Given the description of an element on the screen output the (x, y) to click on. 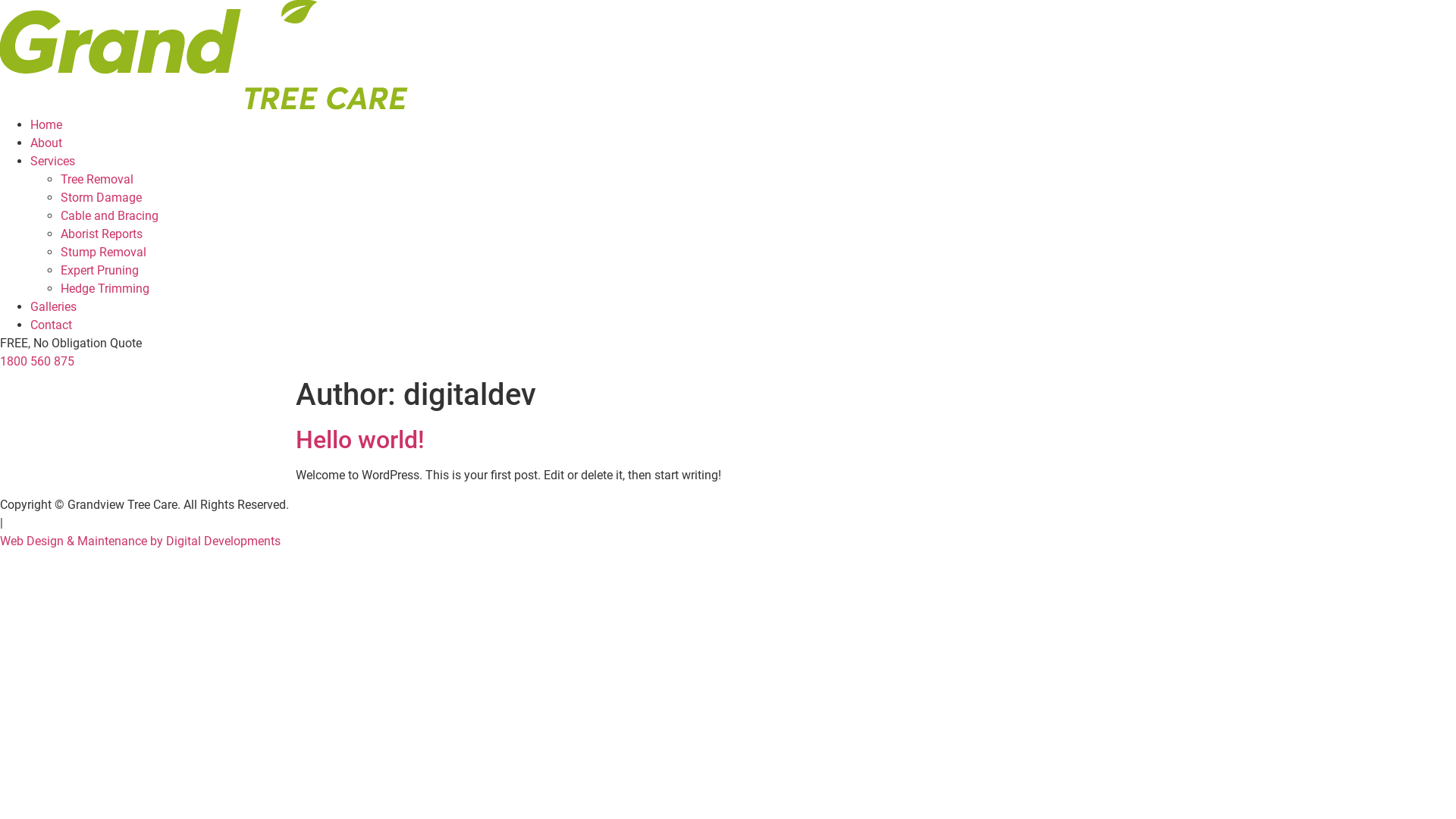
Hedge Trimming Element type: text (104, 288)
Hello world! Element type: text (359, 439)
Galleries Element type: text (53, 306)
Storm Damage Element type: text (100, 197)
About Element type: text (46, 142)
Cable and Bracing Element type: text (109, 215)
Home Element type: text (46, 124)
Services Element type: text (52, 160)
Tree Removal Element type: text (96, 179)
Aborist Reports Element type: text (101, 233)
Stump Removal Element type: text (103, 251)
Expert Pruning Element type: text (99, 270)
Web Design & Maintenance by Digital Developments Element type: text (140, 540)
1800 560 875 Element type: text (37, 361)
Contact Element type: text (51, 324)
